Given the description of an element on the screen output the (x, y) to click on. 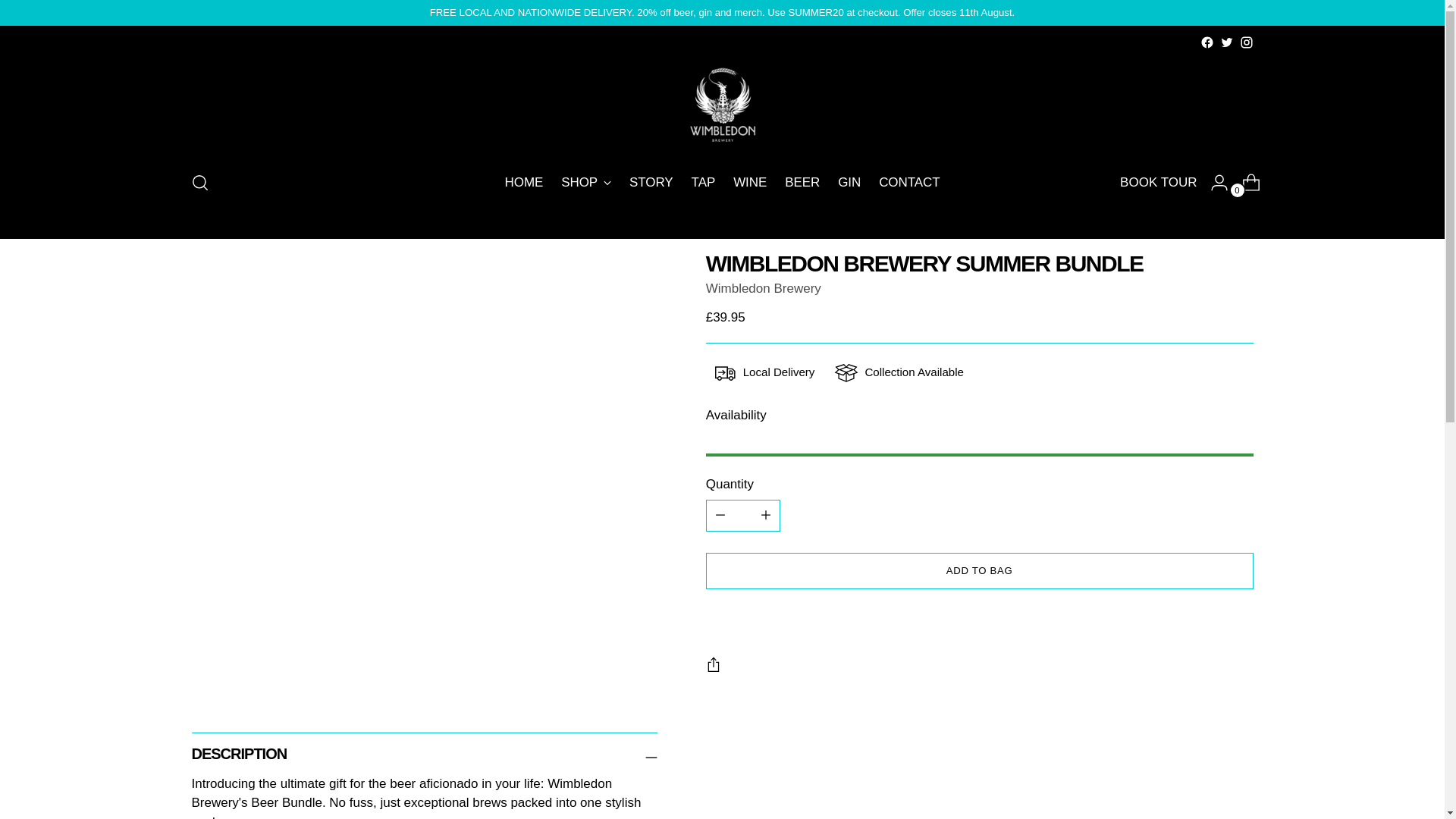
WINE (750, 182)
Wimbledon Brewery (763, 288)
1 (743, 515)
CONTACT (909, 182)
BEER (801, 182)
Wimbledon Brewery on Instagram (721, 182)
Wimbledon Brewery on Twitter (1245, 42)
STORY (1226, 42)
Wimbledon Brewery on Facebook (650, 182)
